Given the description of an element on the screen output the (x, y) to click on. 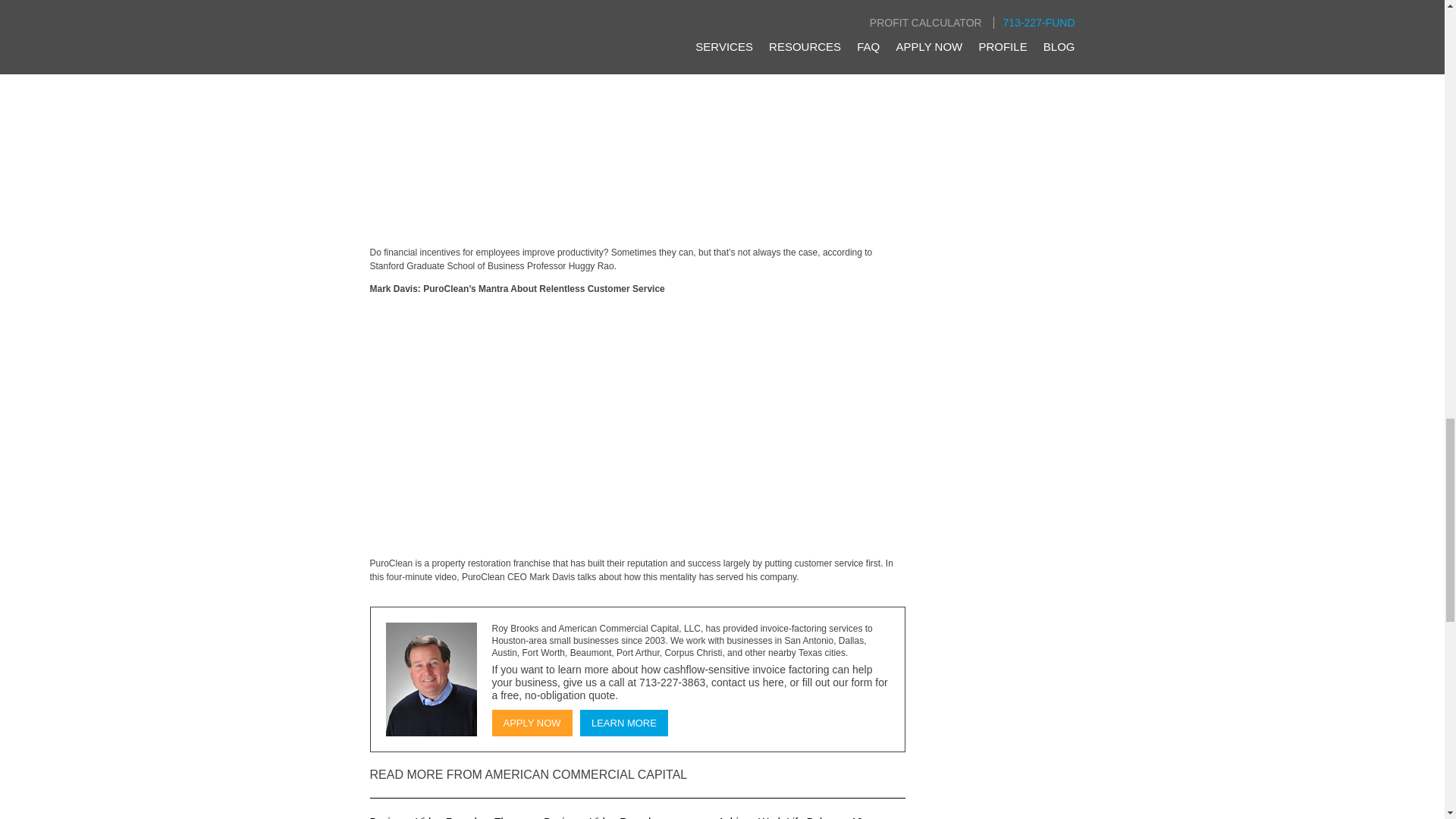
LEARN MORE (623, 723)
APPLY NOW (532, 723)
